Given the description of an element on the screen output the (x, y) to click on. 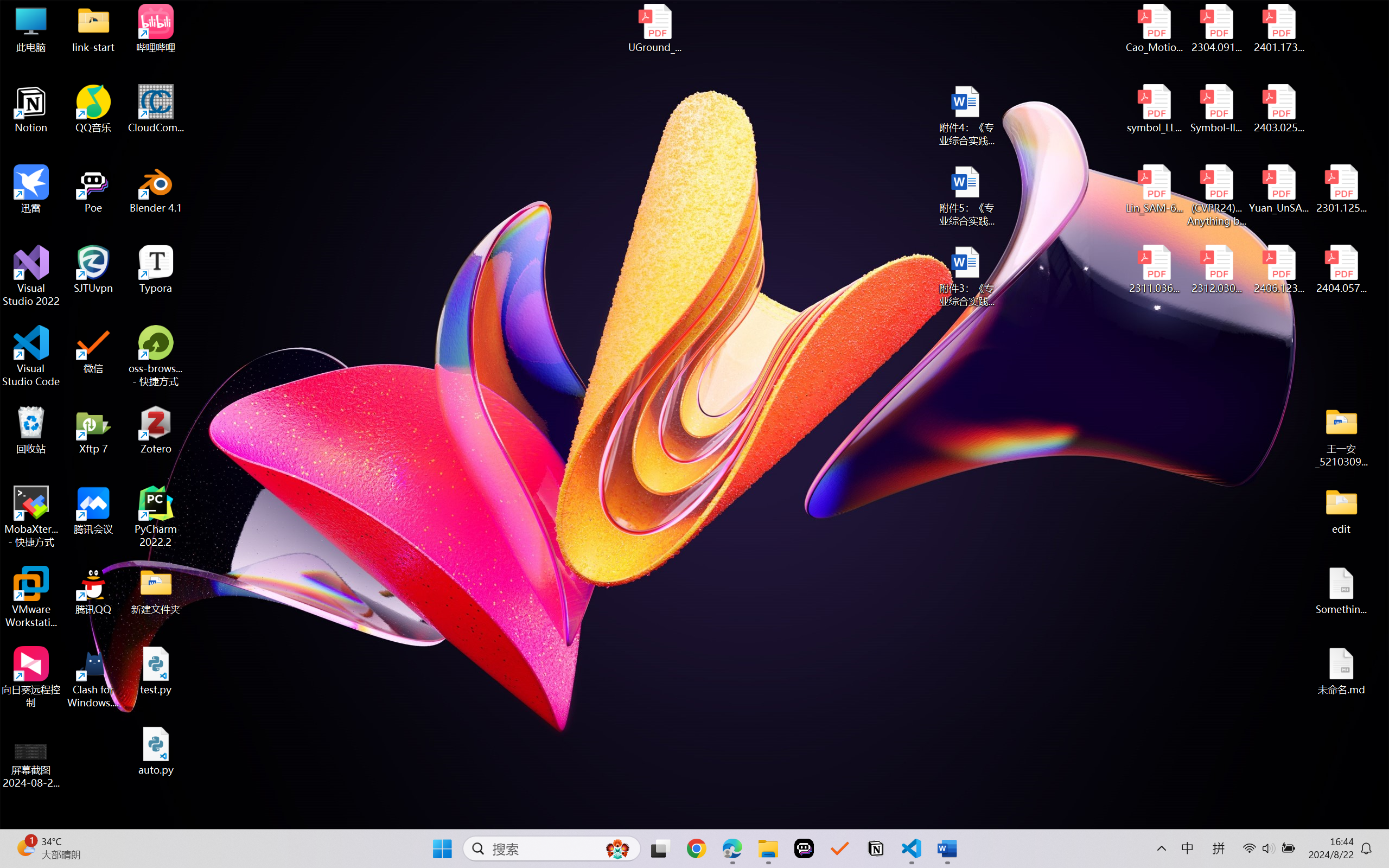
test.py (156, 670)
SJTUvpn (93, 269)
2312.03032v2.pdf (1216, 269)
VMware Workstation Pro (31, 597)
2311.03658v2.pdf (1154, 269)
2404.05719v1.pdf (1340, 269)
